Given the description of an element on the screen output the (x, y) to click on. 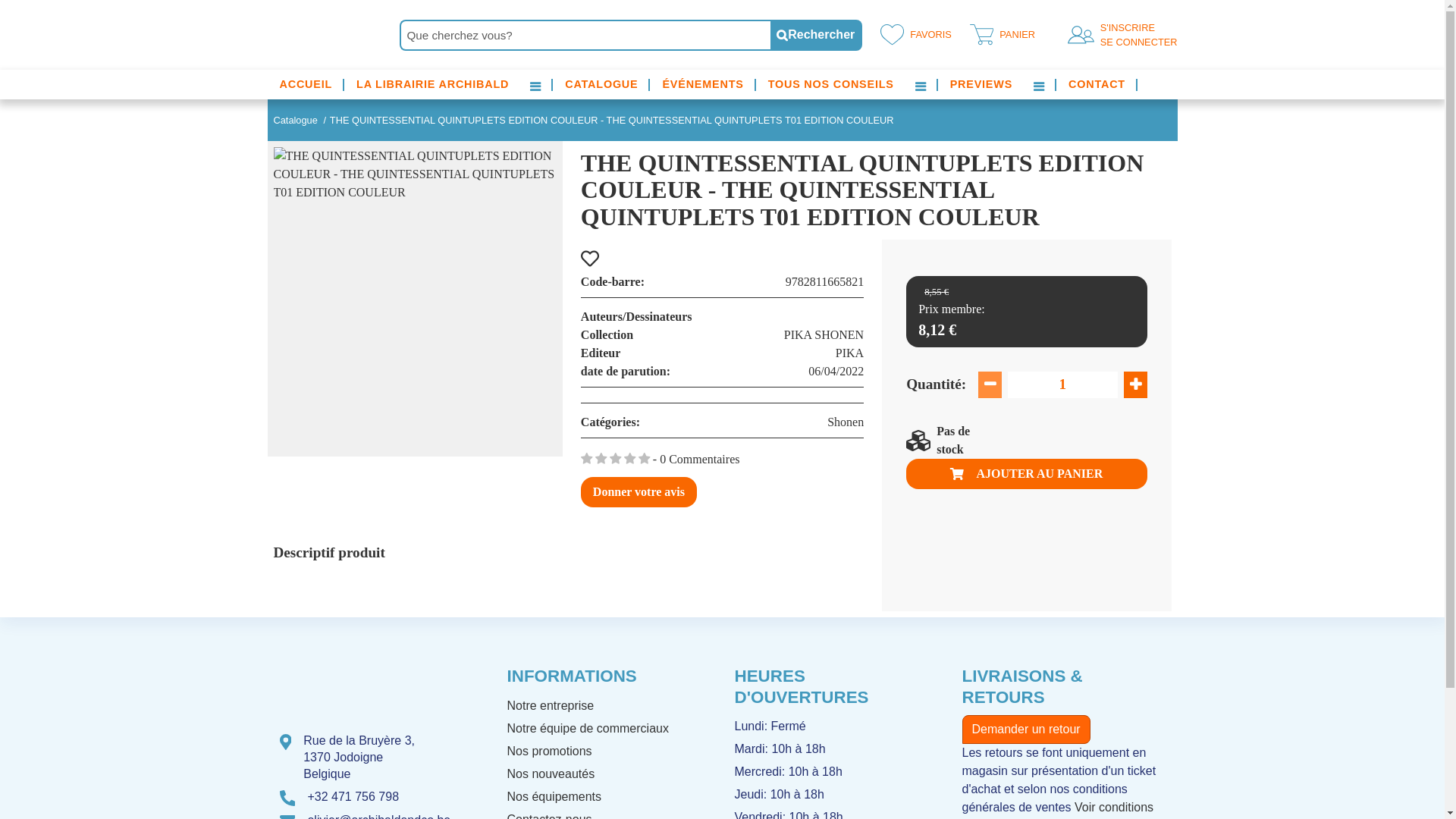
Catalogue Element type: text (294, 119)
Rechercher Element type: text (816, 34)
Nos promotions Element type: text (548, 750)
Logo Element type: text (323, 34)
PIKA Element type: text (849, 352)
PIKA SHONEN Element type: text (823, 334)
PANIER Element type: text (999, 34)
CATALOGUE Element type: text (600, 84)
LA LIBRAIRIE ARCHIBALD Element type: text (432, 84)
Add to Wishlist Element type: hover (721, 259)
Donner votre avis Element type: text (638, 491)
Notre entreprise Element type: text (549, 705)
CONTACT Element type: text (1096, 84)
Shonen Element type: text (845, 421)
FAVORIS Element type: text (912, 34)
Demander un retour Element type: text (1025, 729)
ACCUEIL Element type: text (305, 84)
S'INSCRIRE
SE CONNECTER Element type: text (1135, 34)
TOUS NOS CONSEILS Element type: text (831, 84)
Logo Element type: text (335, 688)
PREVIEWS Element type: text (981, 84)
